Given the description of an element on the screen output the (x, y) to click on. 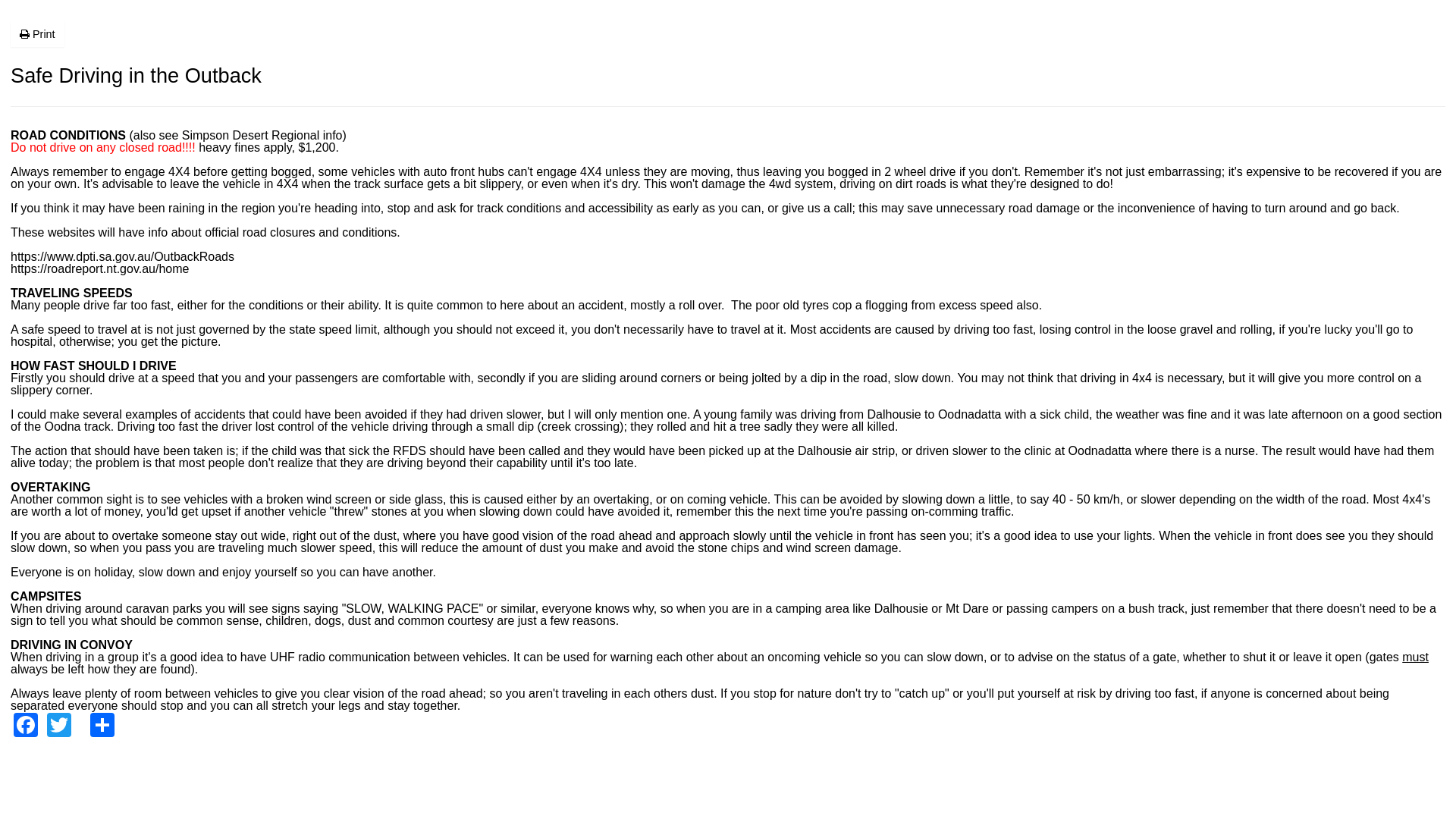
https://www.dpti.sa.gov.au/OutbackRoads Element type: text (122, 262)
Facebook Element type: text (25, 724)
Twitter Element type: text (58, 724)
Share Element type: text (102, 724)
https://roadreport.nt.gov.au/home Element type: text (99, 268)
Print Element type: text (37, 34)
